Given the description of an element on the screen output the (x, y) to click on. 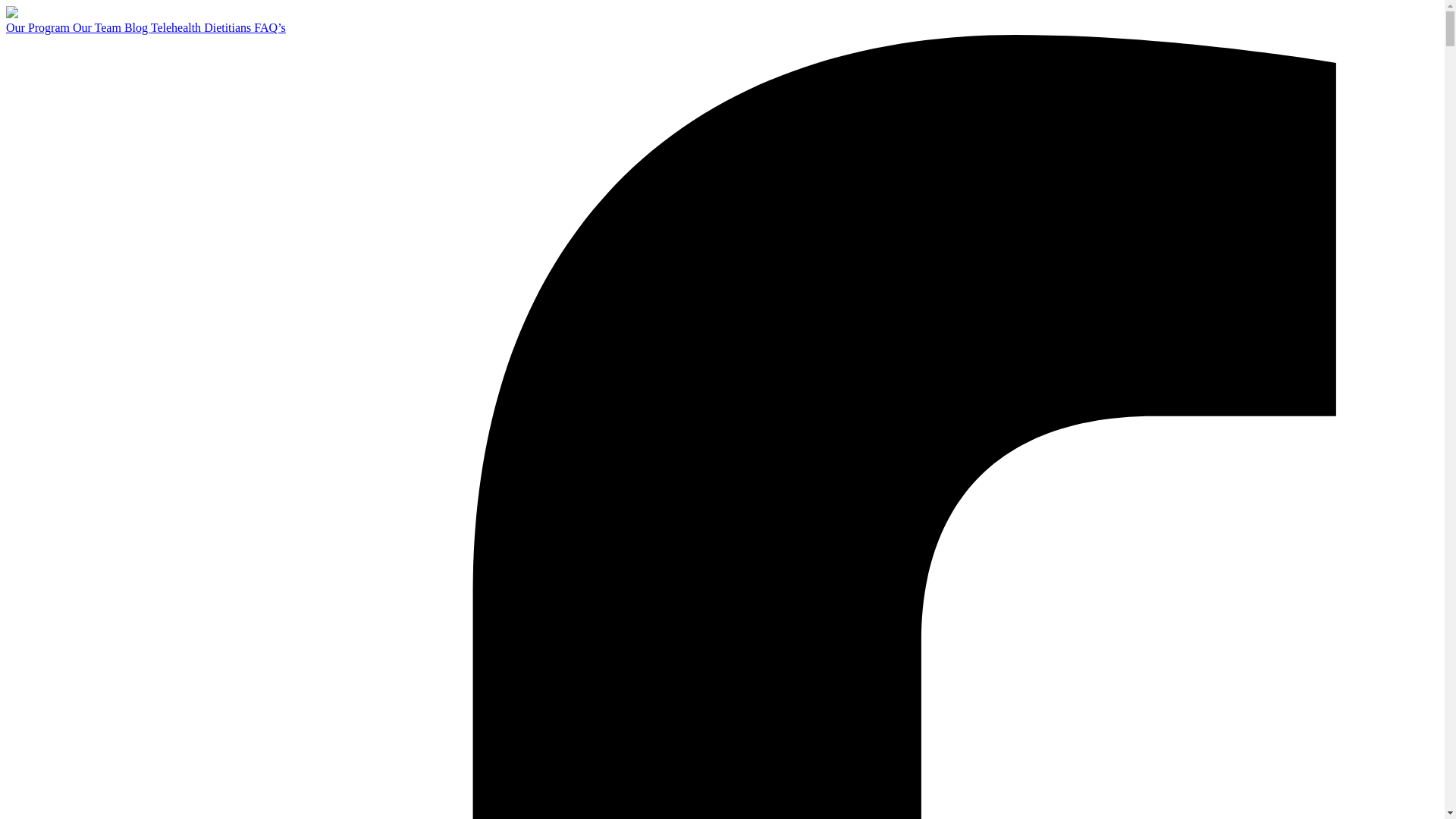
Telehealth (177, 27)
Our Team (97, 27)
Blog (137, 27)
Dietitians (228, 27)
Our Program (38, 27)
